Given the description of an element on the screen output the (x, y) to click on. 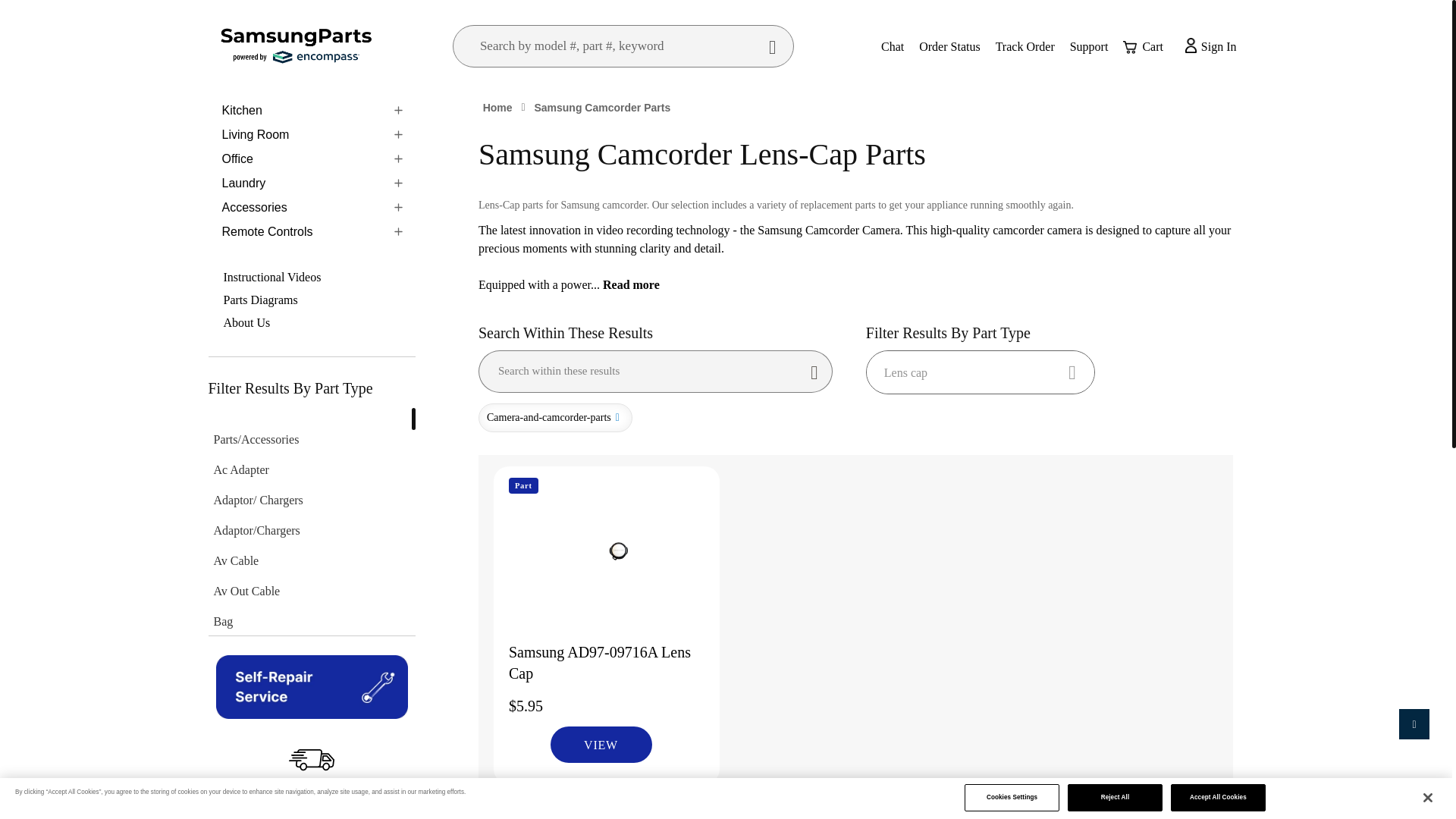
itemType (256, 530)
itemType (247, 591)
itemType (270, 803)
itemType (241, 470)
Track Order (1024, 45)
itemType (248, 682)
Order Status (948, 45)
itemType (232, 712)
itemType (256, 440)
itemType (258, 500)
